Given the description of an element on the screen output the (x, y) to click on. 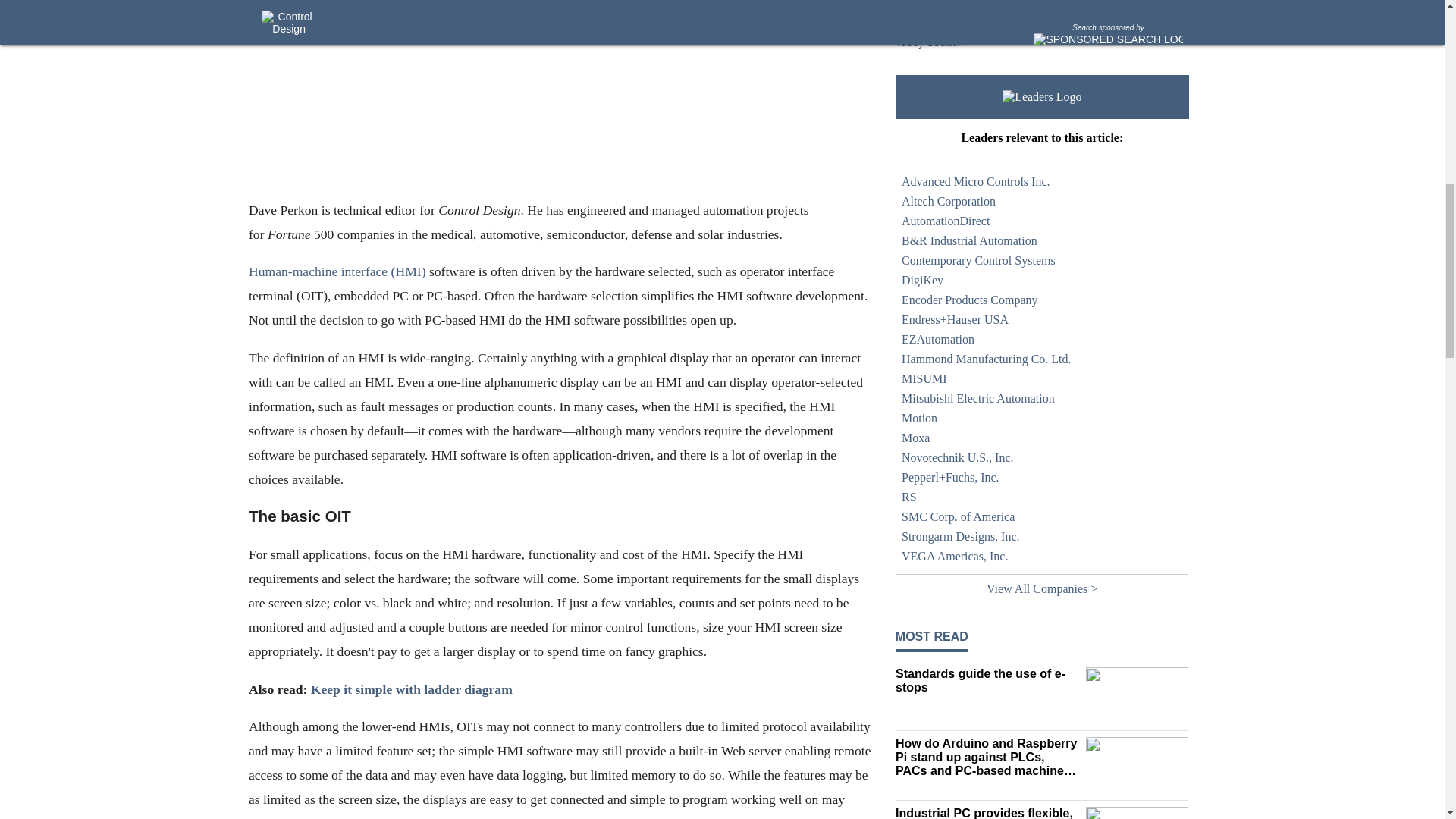
HMI (986, 1)
Keep it simple with ladder diagram (411, 688)
Tobey Strauch (929, 42)
Altech Corporation (1042, 201)
How has the human-machine interface changed? (986, 16)
Advanced Micro Controls Inc. (1042, 181)
Dave-Perkon-headshot-online (560, 99)
